Given the description of an element on the screen output the (x, y) to click on. 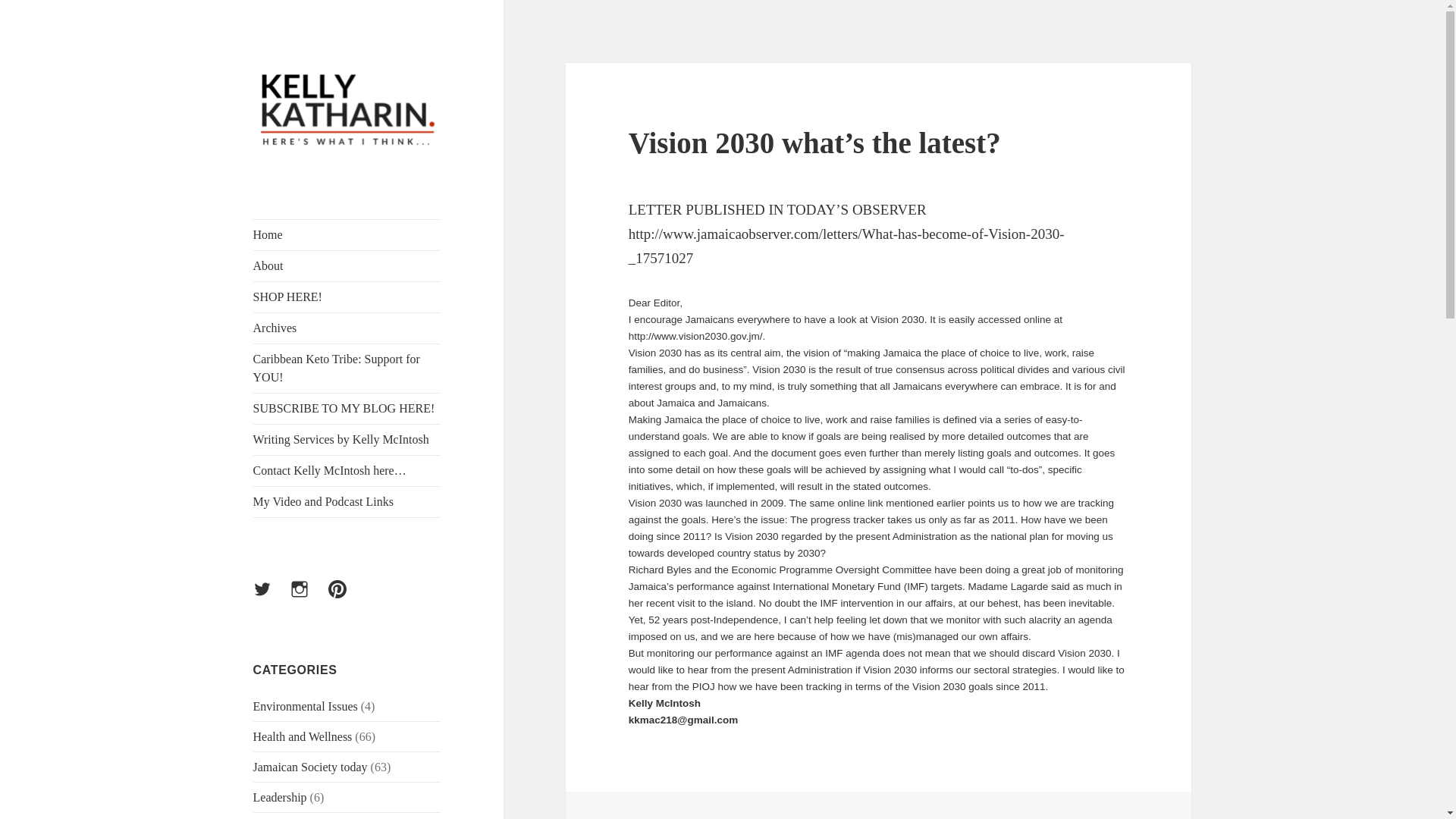
Environmental Issues (305, 706)
SUBSCRIBE TO MY BLOG HERE! (347, 408)
Instagram (307, 597)
About (347, 265)
Health and Wellness (302, 736)
Pinterest (347, 597)
Leadership (280, 797)
Writing Services by Kelly McIntosh (347, 440)
Caribbean Keto Tribe: Support for YOU! (347, 368)
Archives (347, 327)
